Given the description of an element on the screen output the (x, y) to click on. 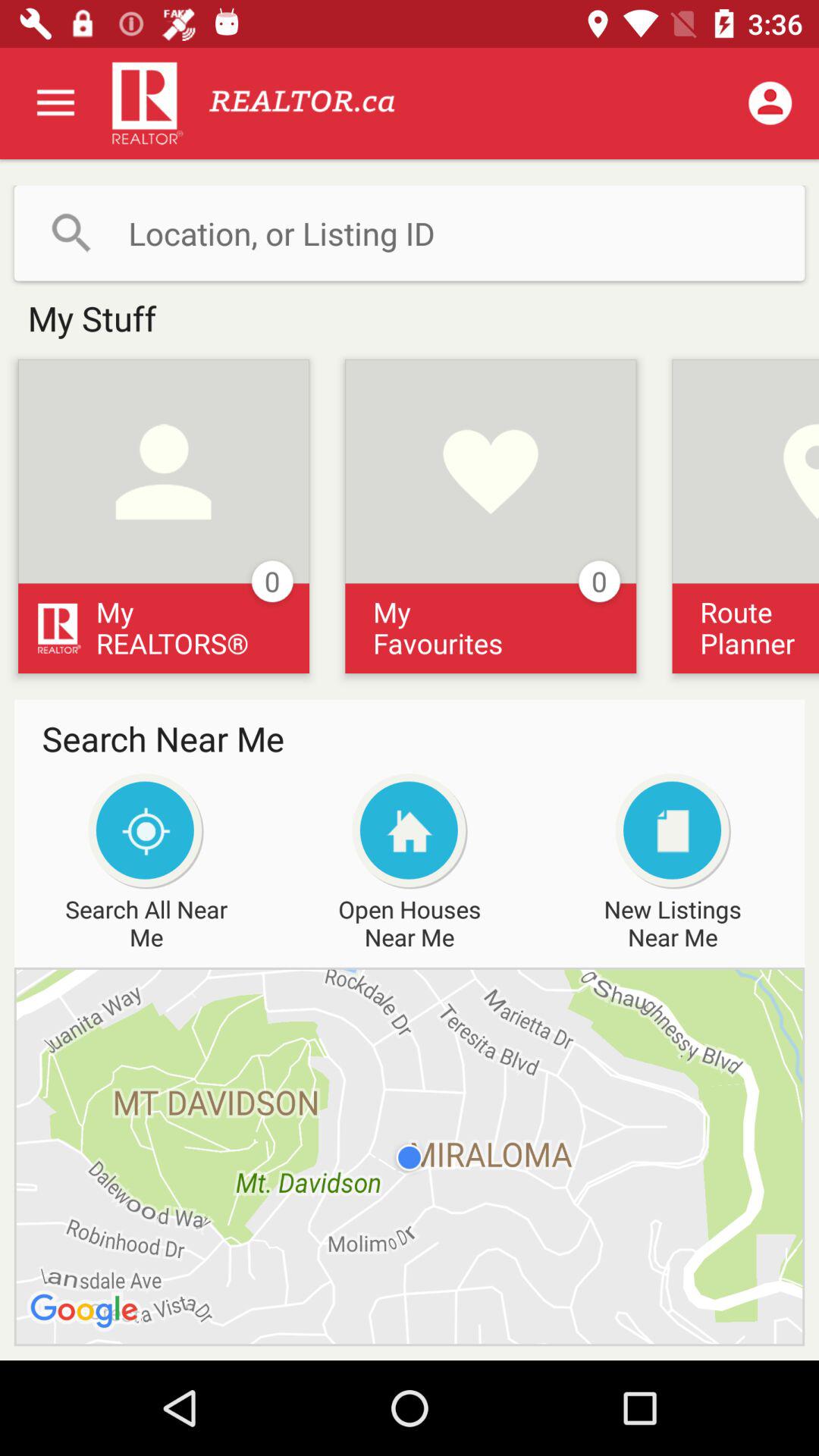
search bar (409, 232)
